Given the description of an element on the screen output the (x, y) to click on. 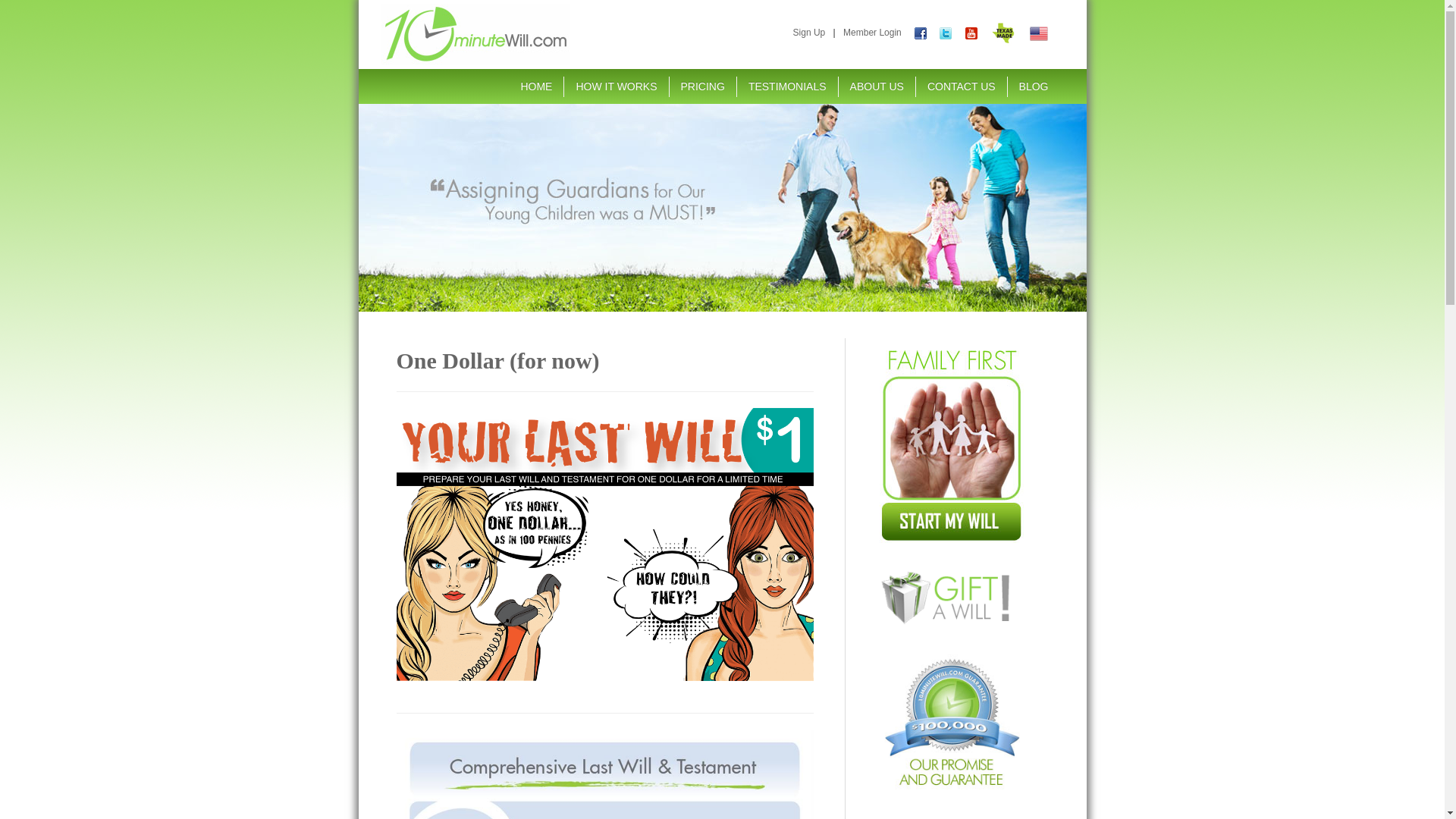
PRICING Element type: text (702, 86)
Member Login Element type: text (872, 32)
CONTACT US Element type: text (961, 86)
10minutewill.com Promise And Guarantee Element type: hover (951, 721)
Gift A Will Element type: hover (951, 597)
HOME Element type: text (535, 86)
ABOUT US Element type: text (876, 86)
BLOG Element type: text (1033, 86)
Sign Up Element type: text (809, 32)
HOW IT WORKS Element type: text (616, 86)
TESTIMONIALS Element type: text (787, 86)
